Given the description of an element on the screen output the (x, y) to click on. 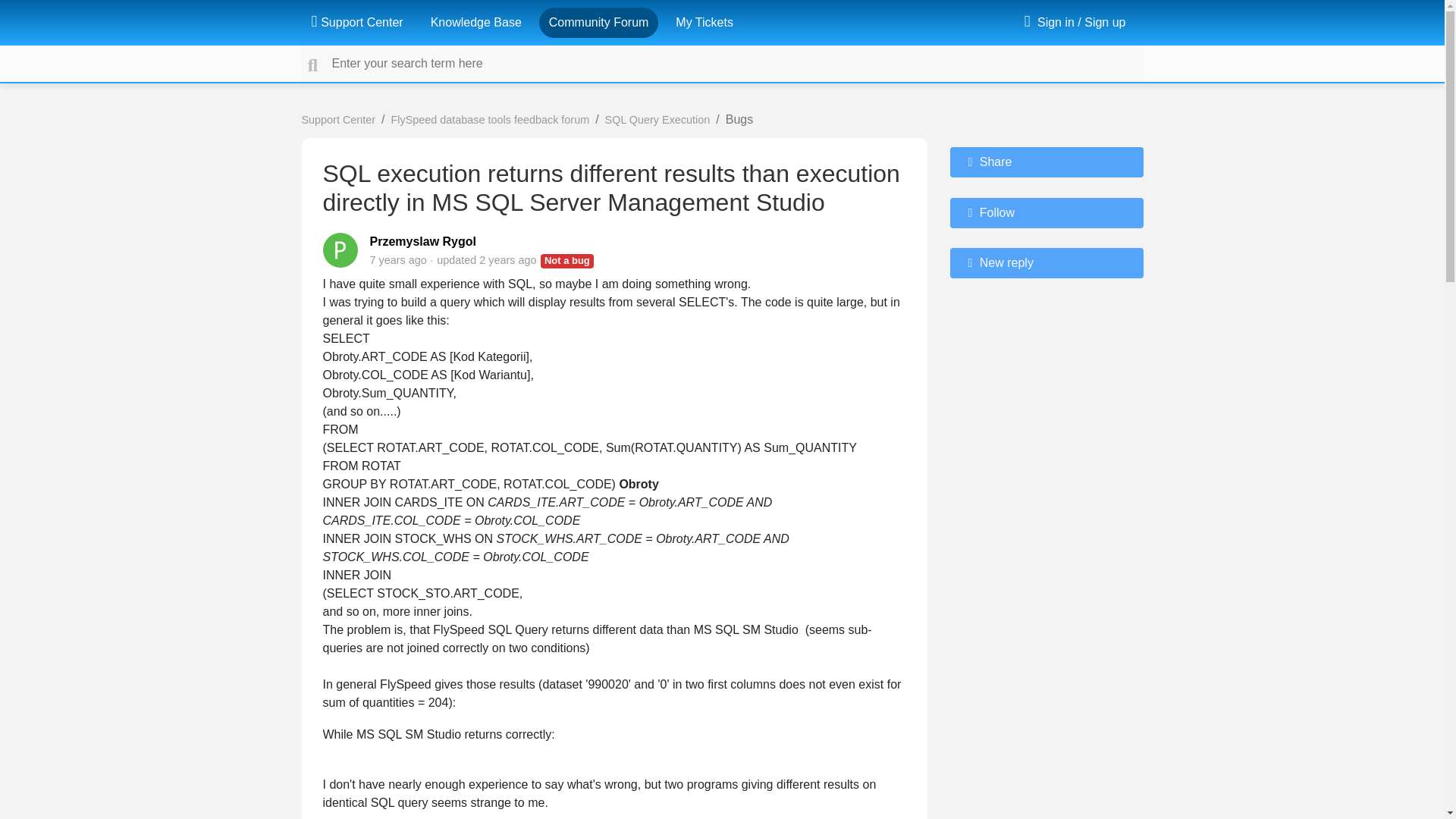
Support Center (356, 22)
Share (1045, 162)
New reply (1045, 263)
June 16, 2022 11:38 a.m. (507, 259)
Community Forum (599, 22)
FlySpeed database tools feedback forum (490, 119)
Support Center (338, 119)
Przemyslaw Rygol (423, 241)
SQL Query Execution (657, 119)
Follow (1045, 213)
Knowledge Base (476, 22)
My Tickets (704, 22)
Aug. 25, 2017 8:46 a.m. (397, 259)
